Given the description of an element on the screen output the (x, y) to click on. 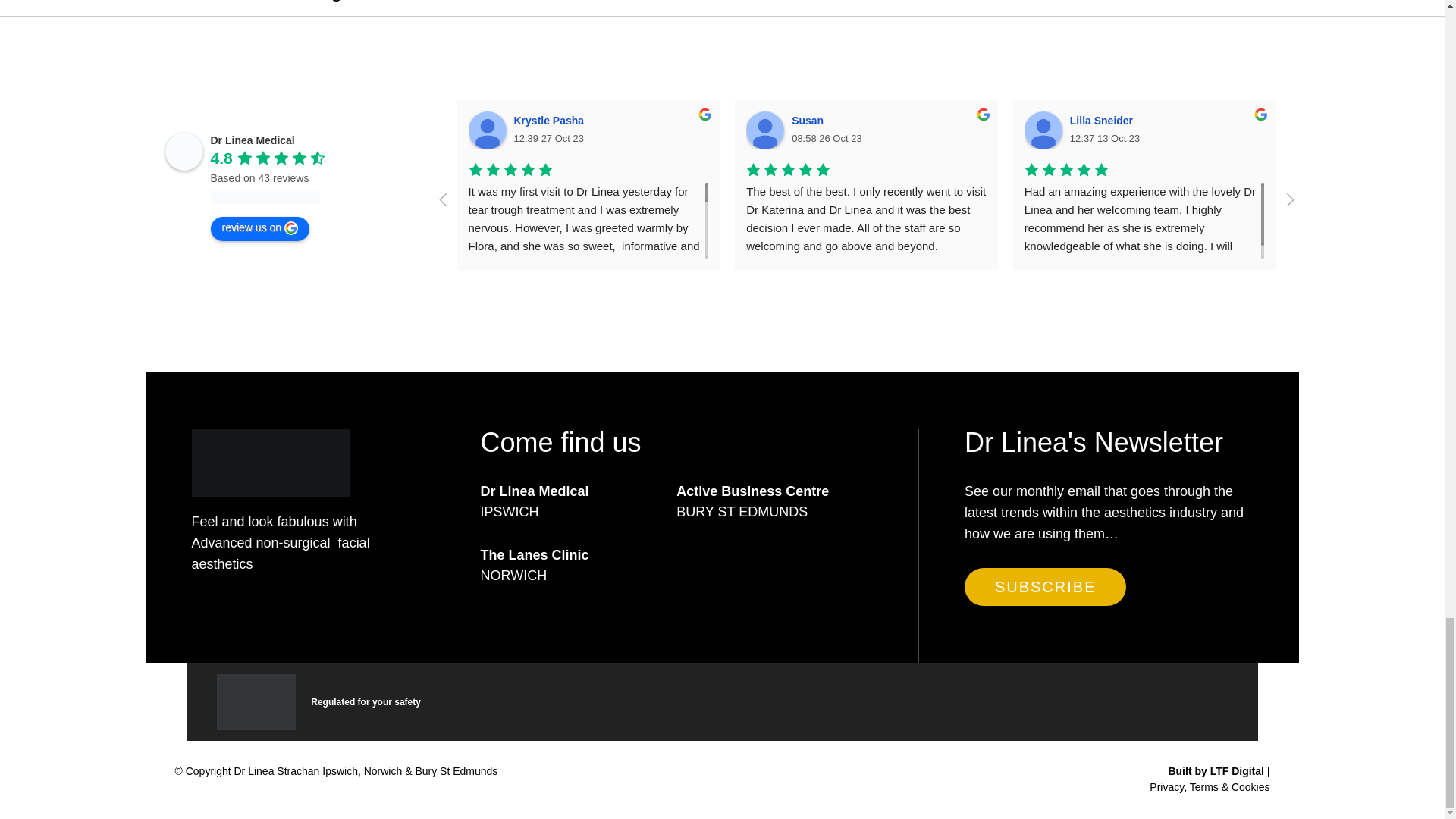
Dr Linea Medical (184, 151)
Krystle Pasha (551, 120)
SUBSCRIBE (1044, 587)
Dr Linea Medical (253, 140)
Krystle Pasha (487, 130)
Susan (810, 120)
Lilla Sneider (1103, 120)
Susan (764, 130)
Danielle (1370, 120)
